Given the description of an element on the screen output the (x, y) to click on. 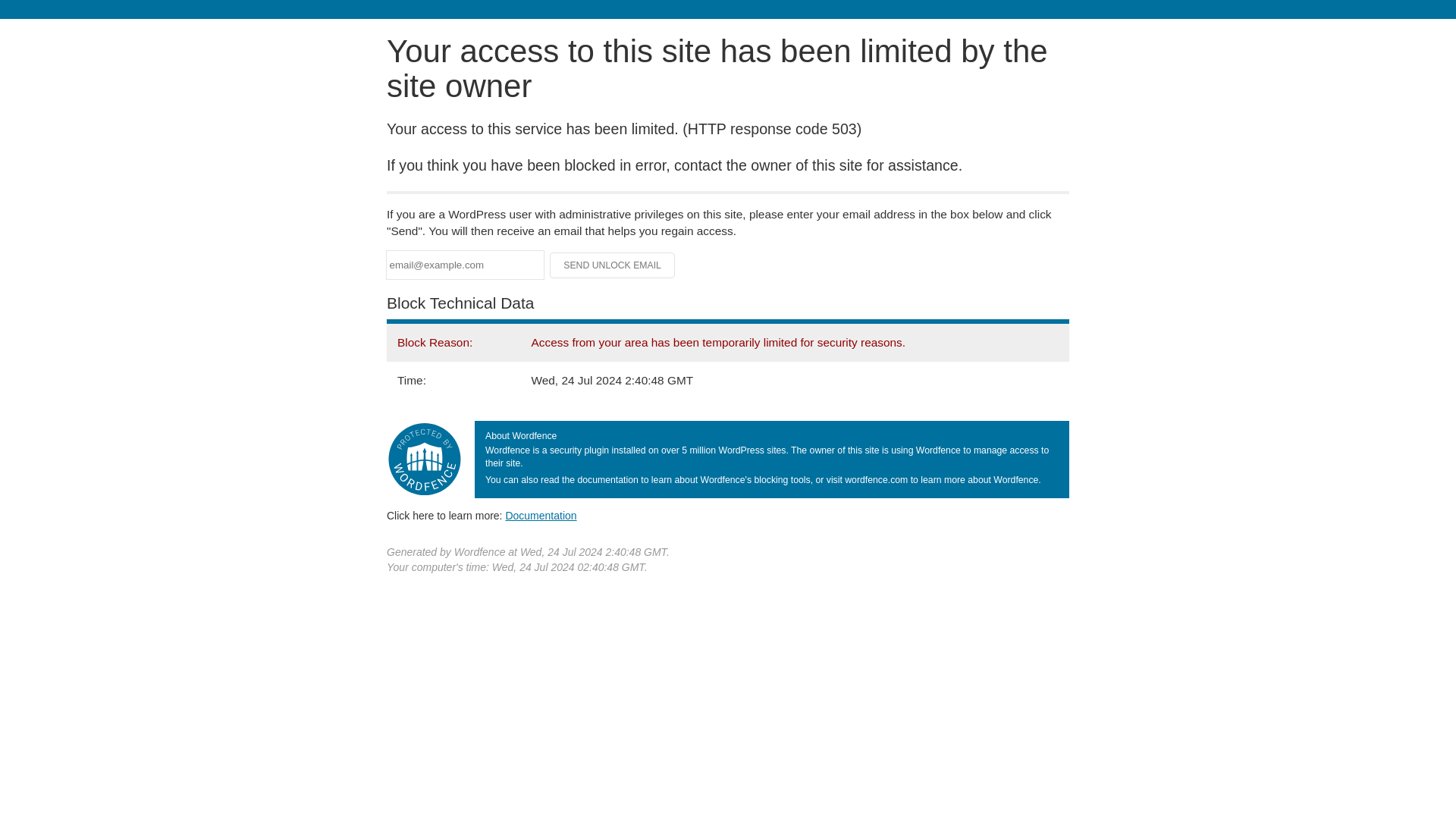
Send Unlock Email (612, 265)
Documentation (540, 515)
Send Unlock Email (612, 265)
